Given the description of an element on the screen output the (x, y) to click on. 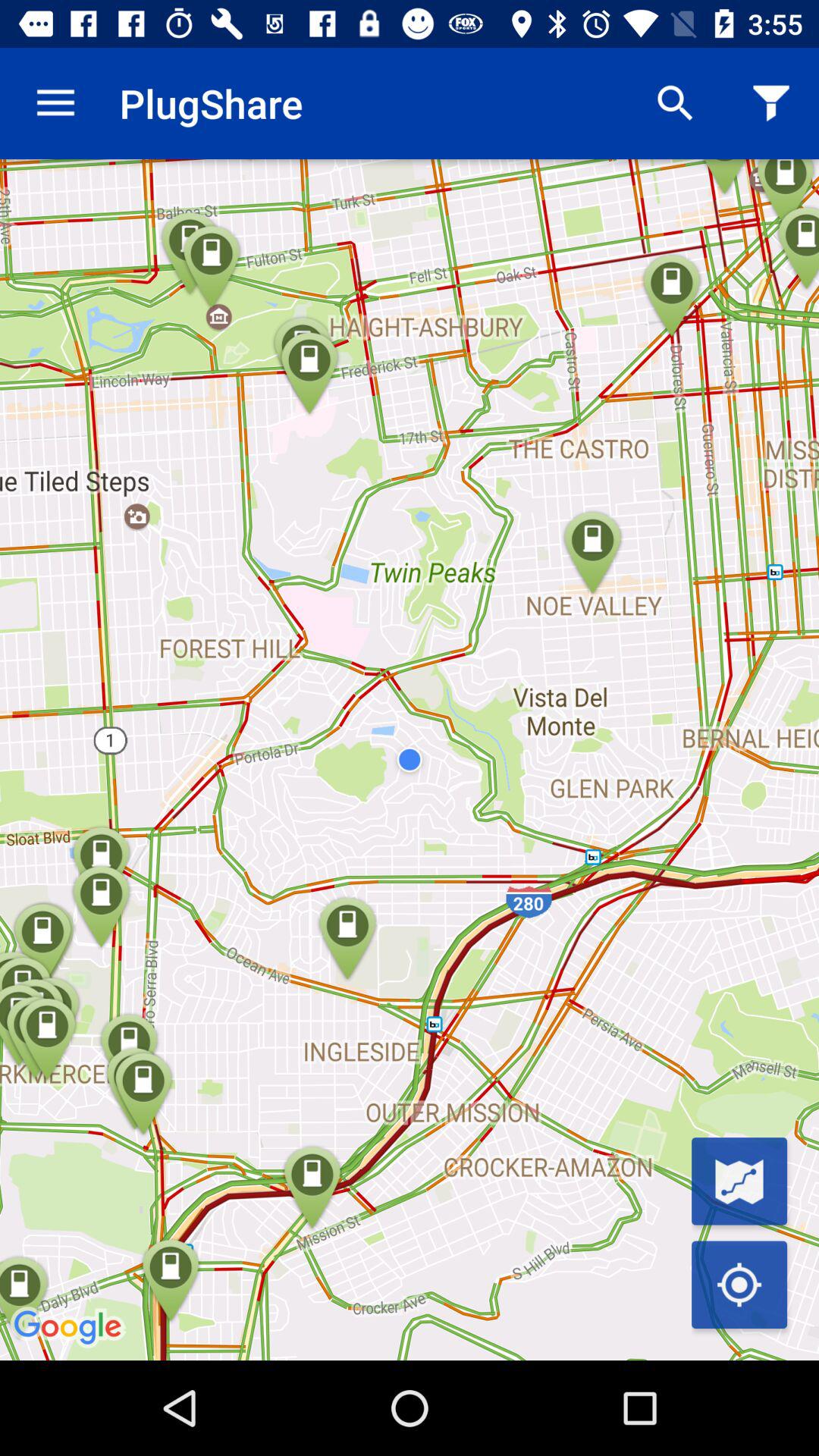
press app next to plugshare icon (675, 103)
